Given the description of an element on the screen output the (x, y) to click on. 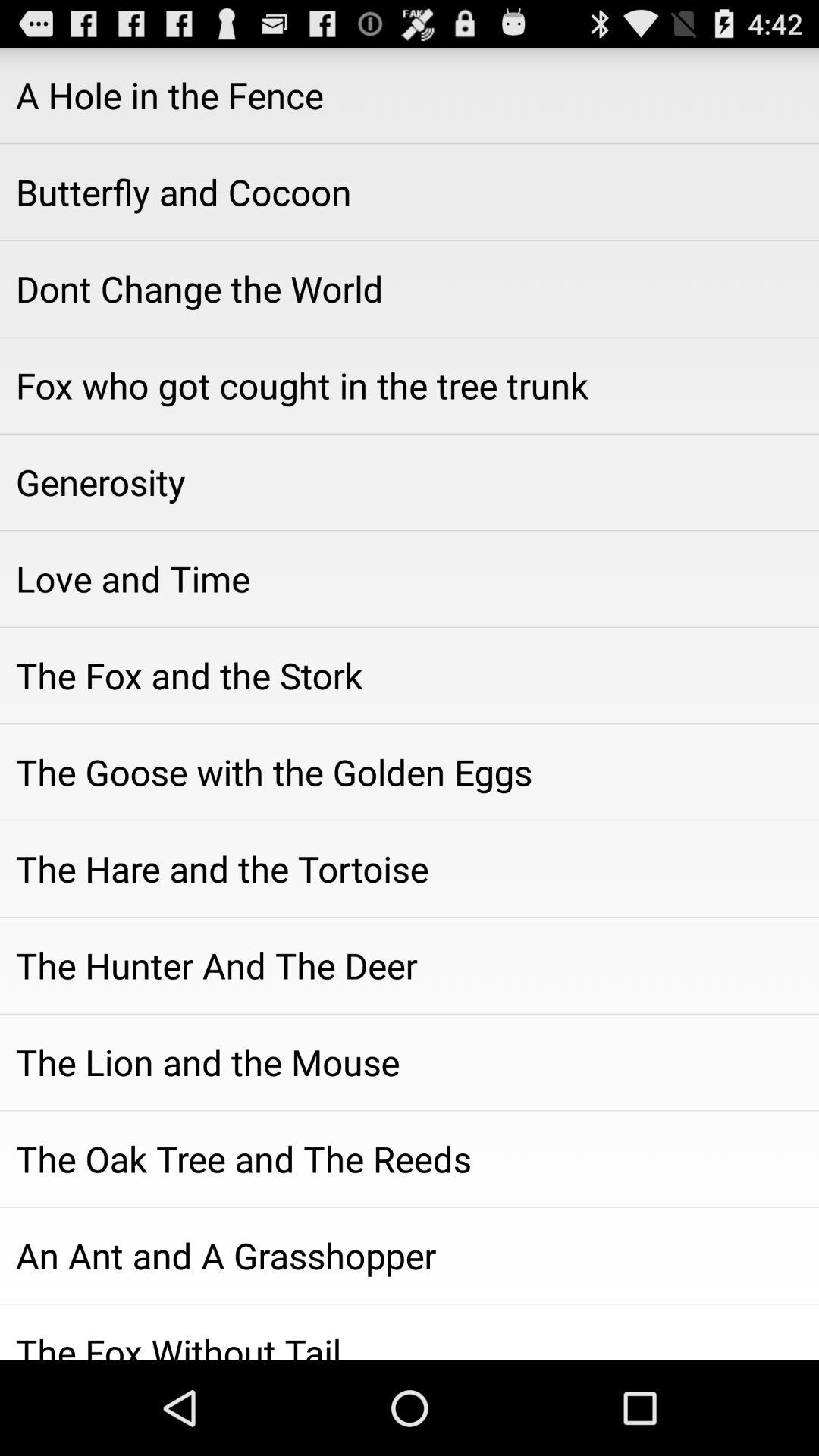
open app above generosity app (409, 385)
